Given the description of an element on the screen output the (x, y) to click on. 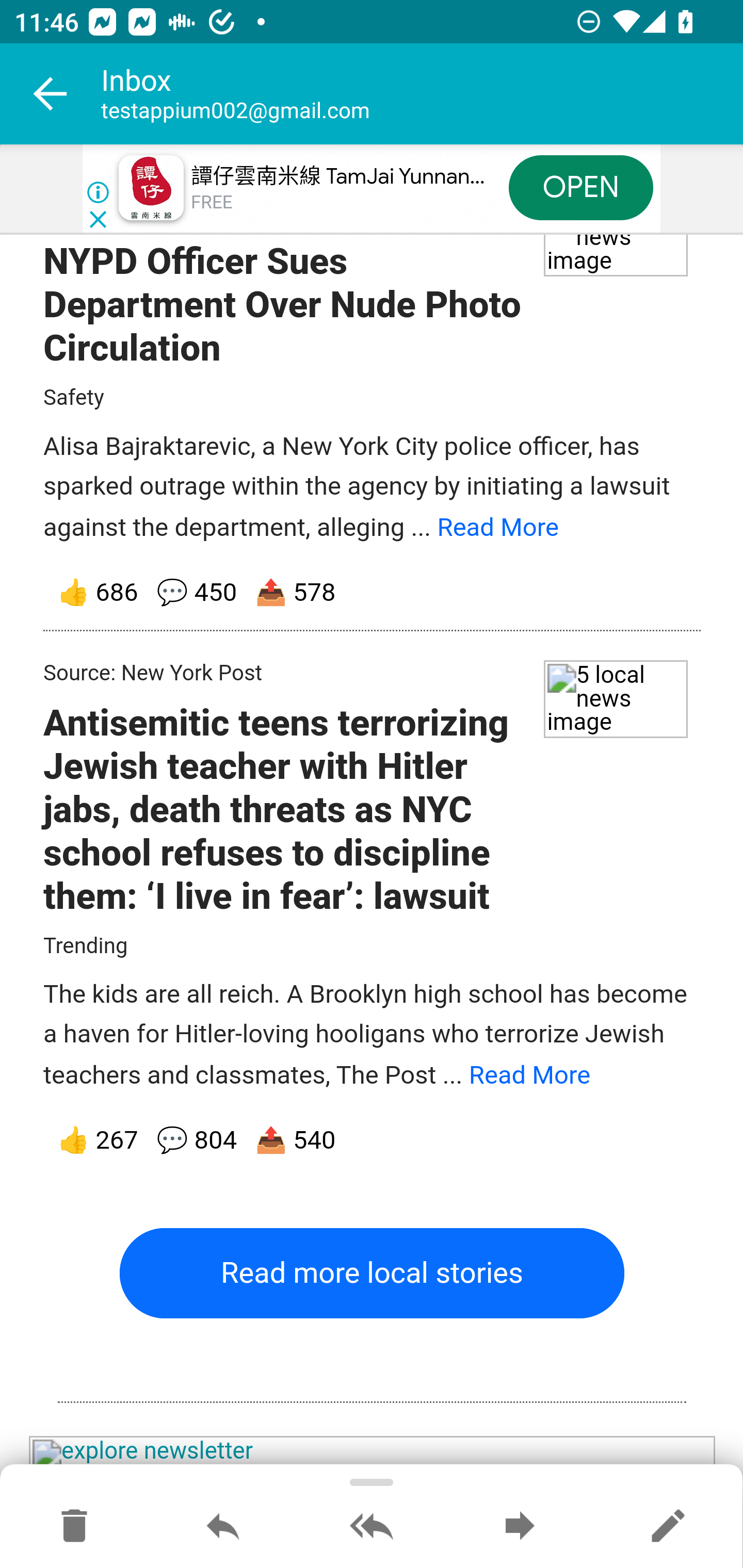
Navigate up (50, 93)
Inbox testappium002@gmail.com (422, 93)
OPEN (580, 187)
譚仔雲南米線 TamJai Yunnan… (337, 177)
FREE (212, 202)
👍 686   💬 450   📤 578 (372, 593)
👍 267   💬 804   📤 540 (372, 1141)
Read more local stories (371, 1272)
explore newsletter (372, 1453)
Move to Deleted (74, 1527)
Reply (222, 1527)
Reply all (371, 1527)
Forward (519, 1527)
Reply as new (667, 1527)
